Given the description of an element on the screen output the (x, y) to click on. 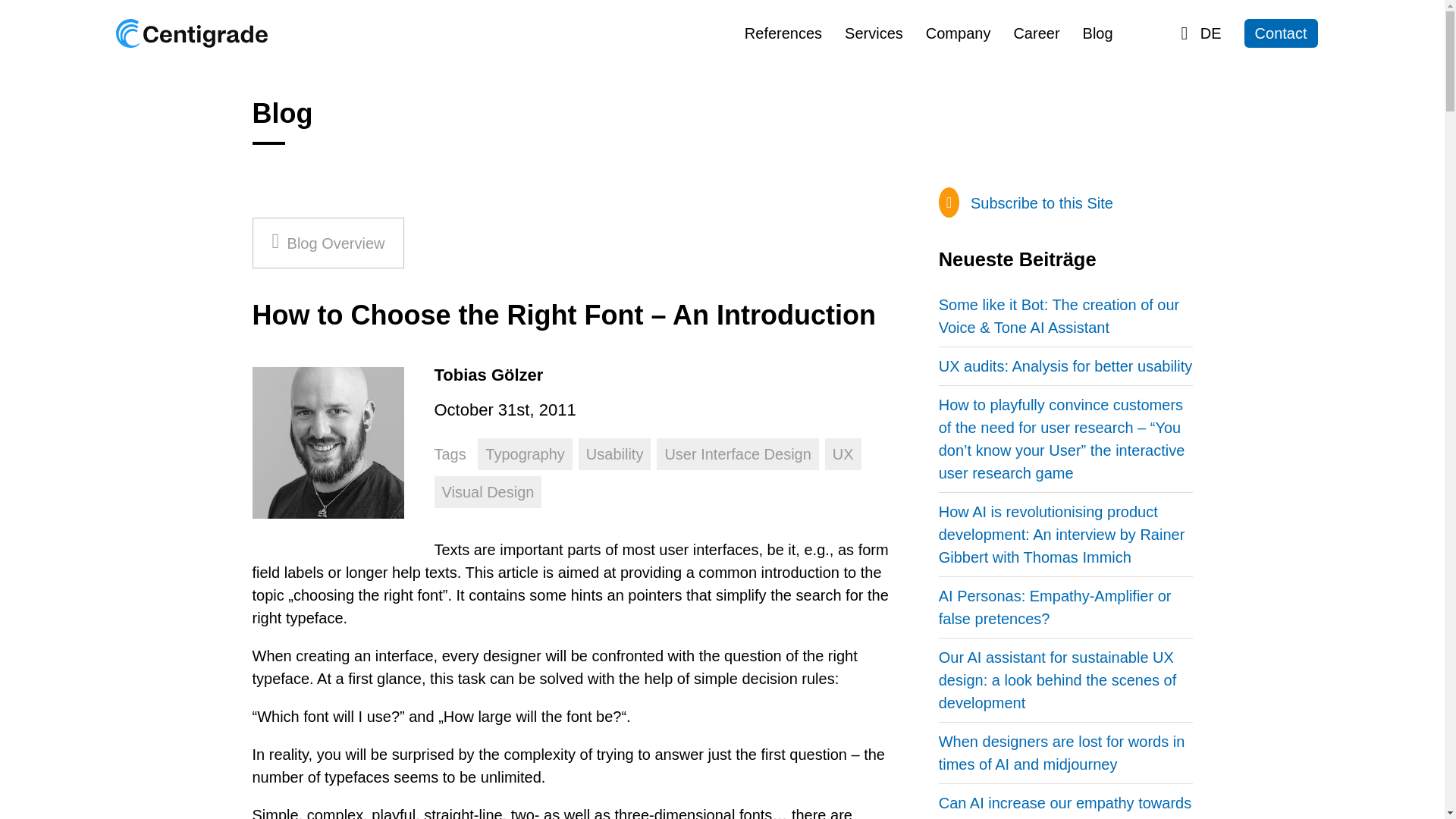
DE (1200, 33)
UX (843, 454)
Blog (1098, 33)
References (783, 33)
Blog Overview (327, 242)
User Interface Design (737, 454)
Usability (614, 454)
Permanent Link to Can AI increase our empathy towards users? (1065, 805)
